Given the description of an element on the screen output the (x, y) to click on. 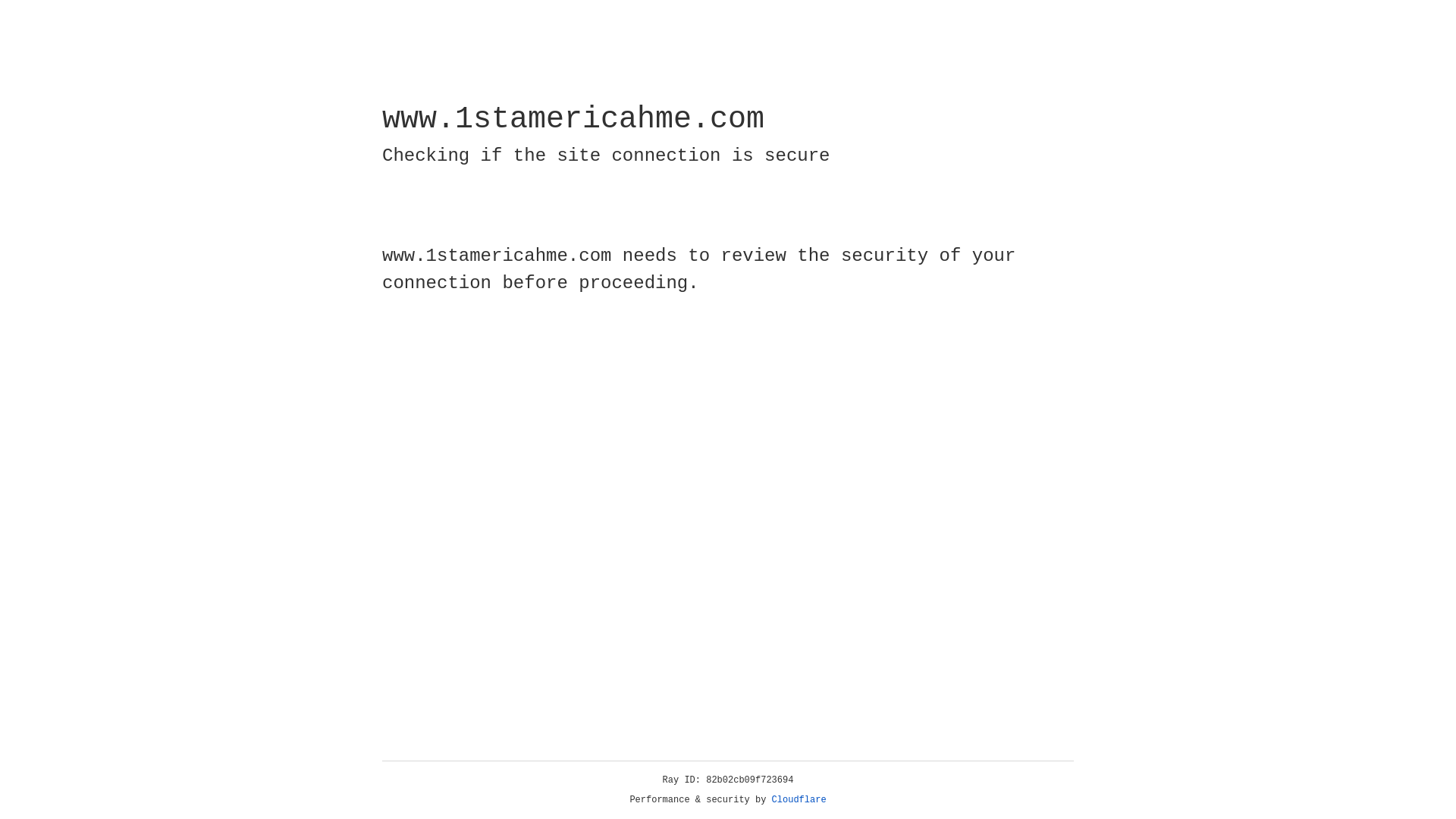
Cloudflare Element type: text (798, 799)
